Given the description of an element on the screen output the (x, y) to click on. 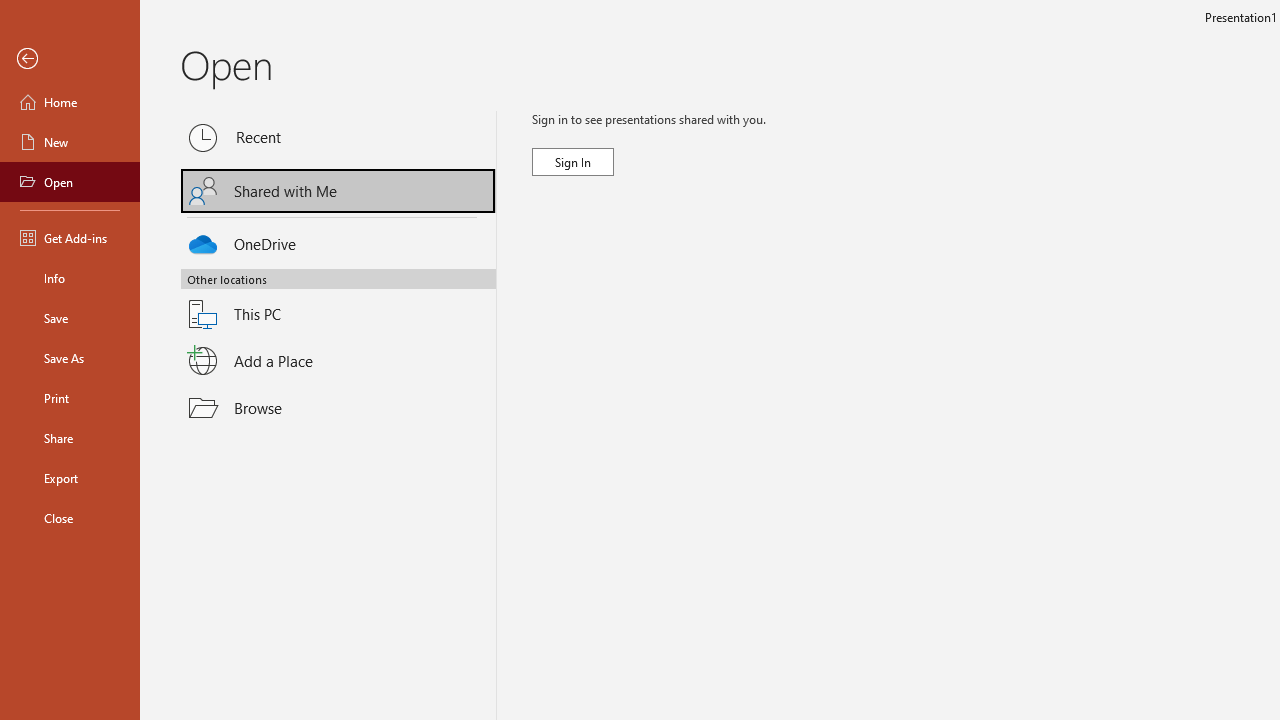
Add a Place (338, 361)
Back (69, 59)
Browse (338, 407)
Recent (338, 138)
Shared with Me (338, 191)
Info (69, 277)
Print (69, 398)
This PC (338, 302)
Get Add-ins (69, 237)
